Given the description of an element on the screen output the (x, y) to click on. 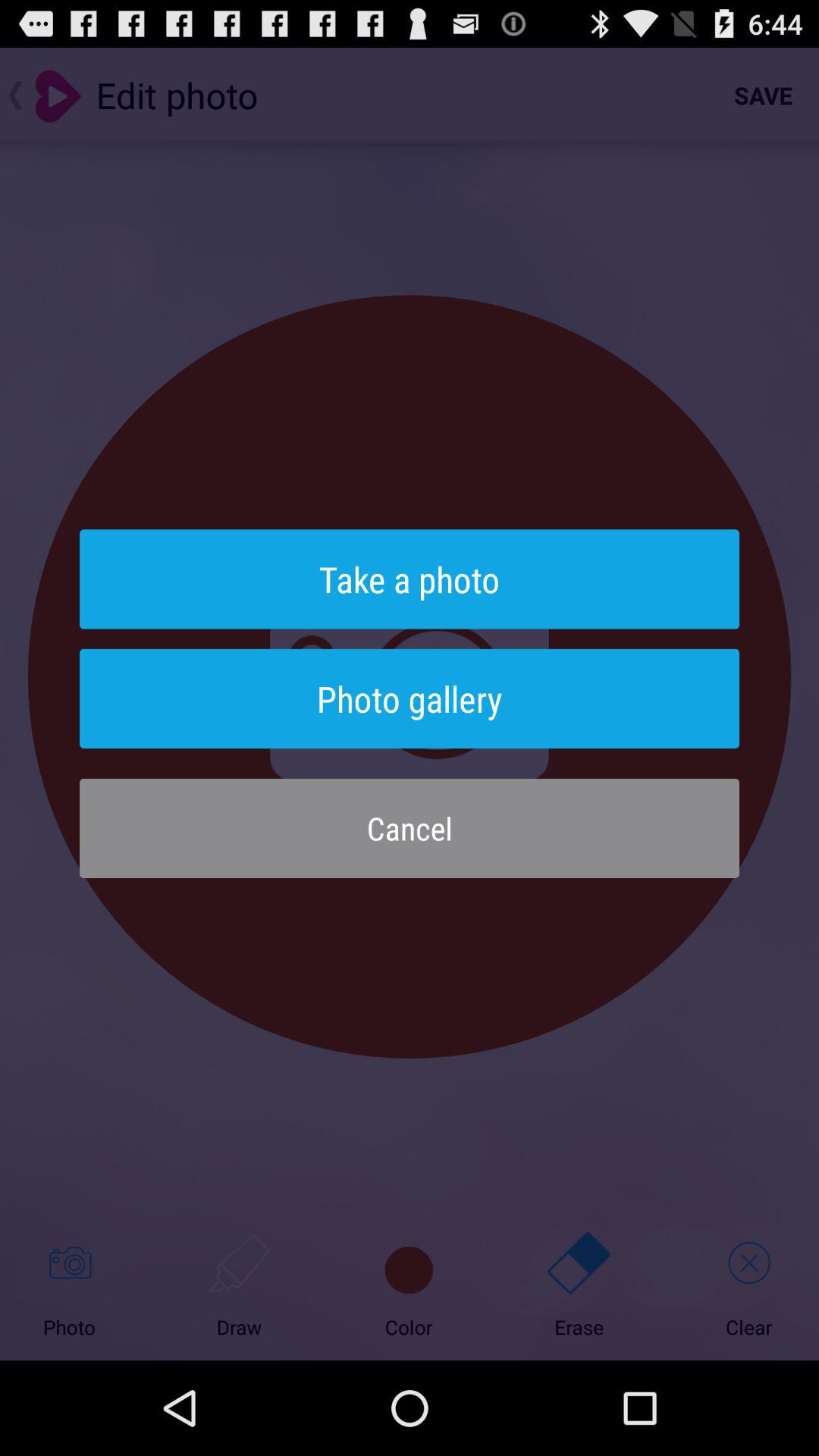
turn on take a photo button (409, 579)
